Given the description of an element on the screen output the (x, y) to click on. 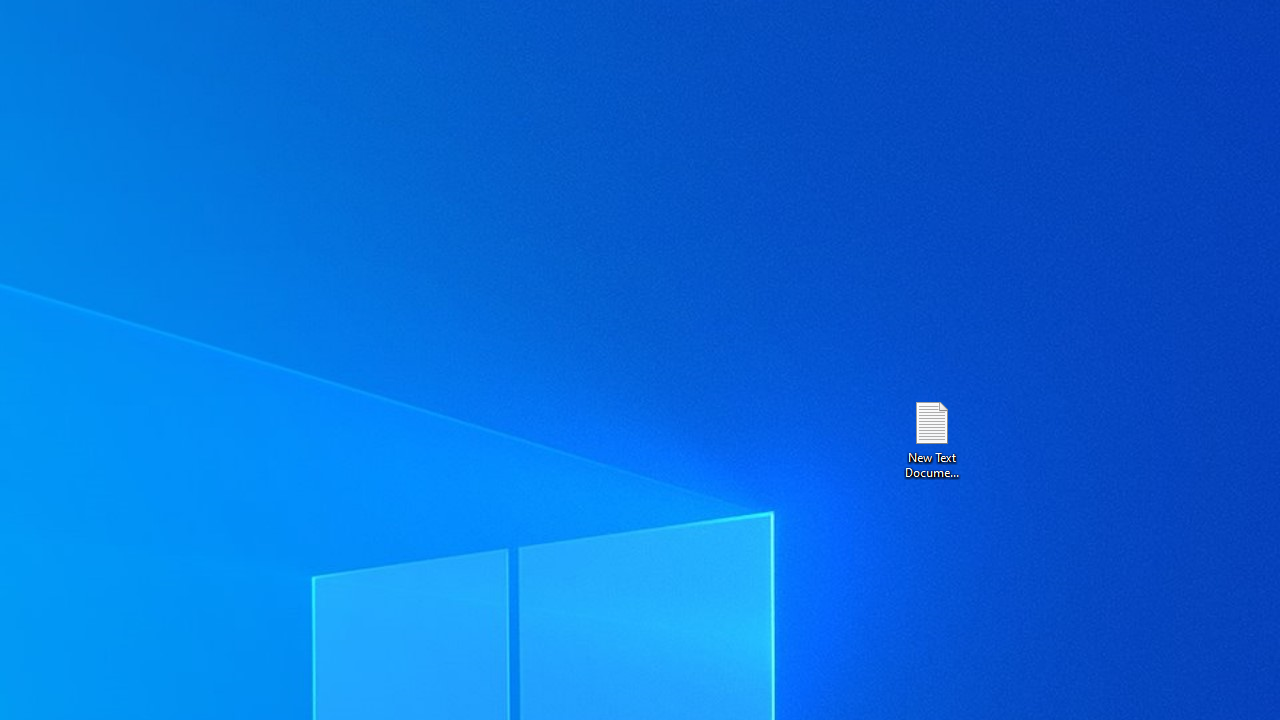
New Text Document (2) (931, 438)
